Given the description of an element on the screen output the (x, y) to click on. 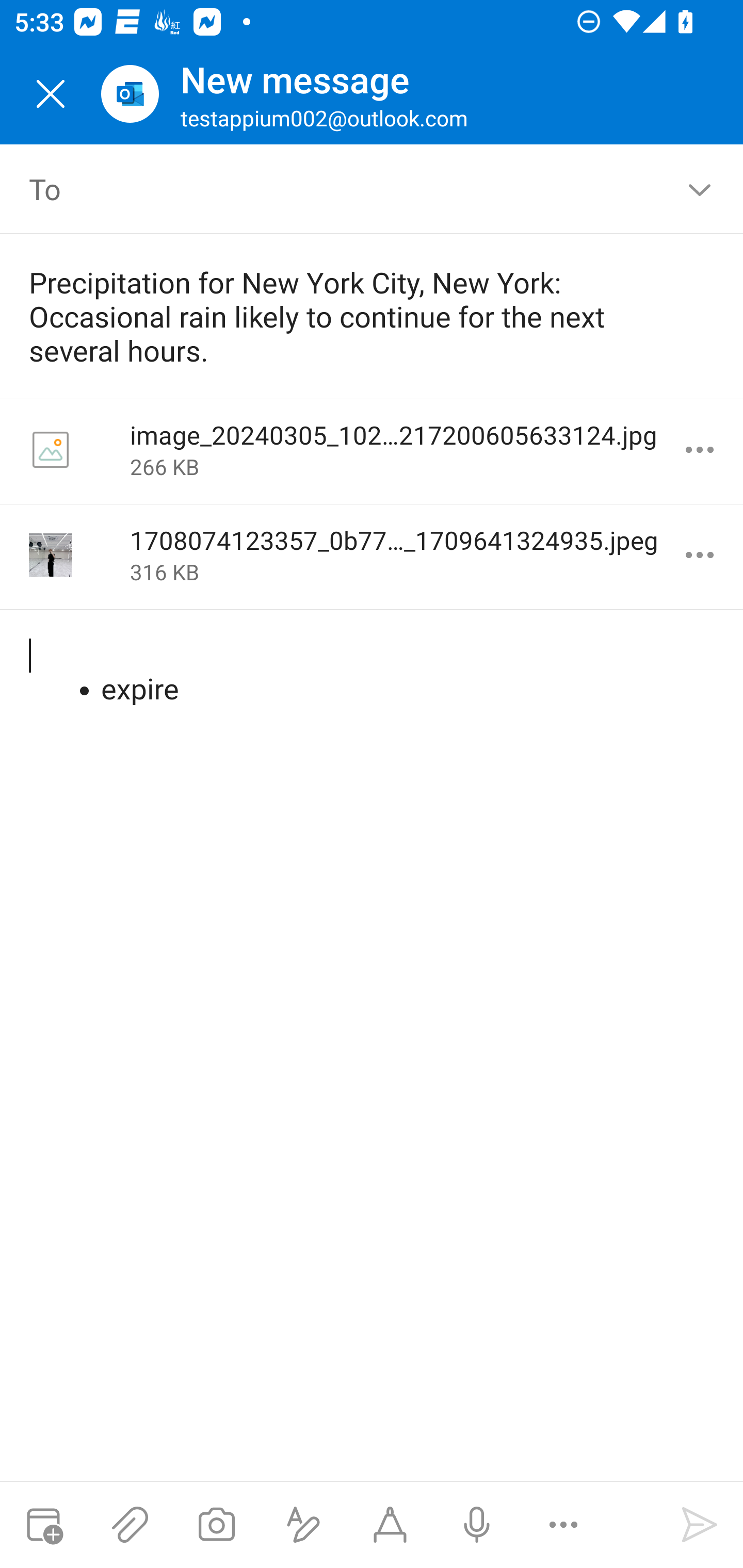
Close (50, 93)
More options (699, 449)
More options (699, 554)

• expire (372, 671)
Attach meeting (43, 1524)
Attach files (129, 1524)
Take a photo (216, 1524)
Show formatting options (303, 1524)
Start Ink compose (389, 1524)
Dictation (476, 1524)
More options (563, 1524)
Send (699, 1524)
